Given the description of an element on the screen output the (x, y) to click on. 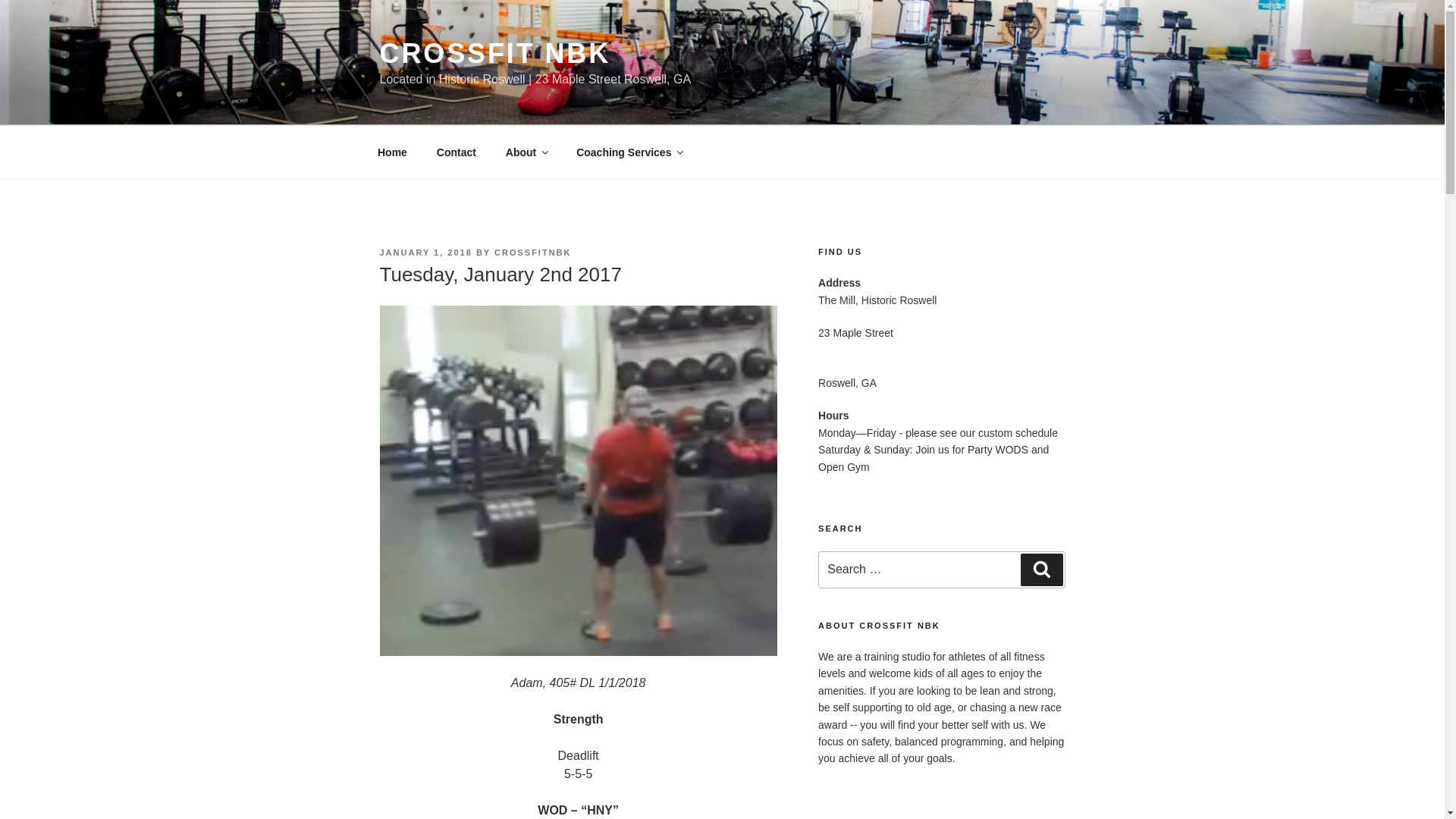
Home (392, 151)
Search (1041, 569)
CROSSFITNBK (532, 252)
Contact (456, 151)
JANUARY 1, 2018 (424, 252)
Coaching Services (629, 151)
CROSSFIT NBK (494, 52)
About (525, 151)
